Given the description of an element on the screen output the (x, y) to click on. 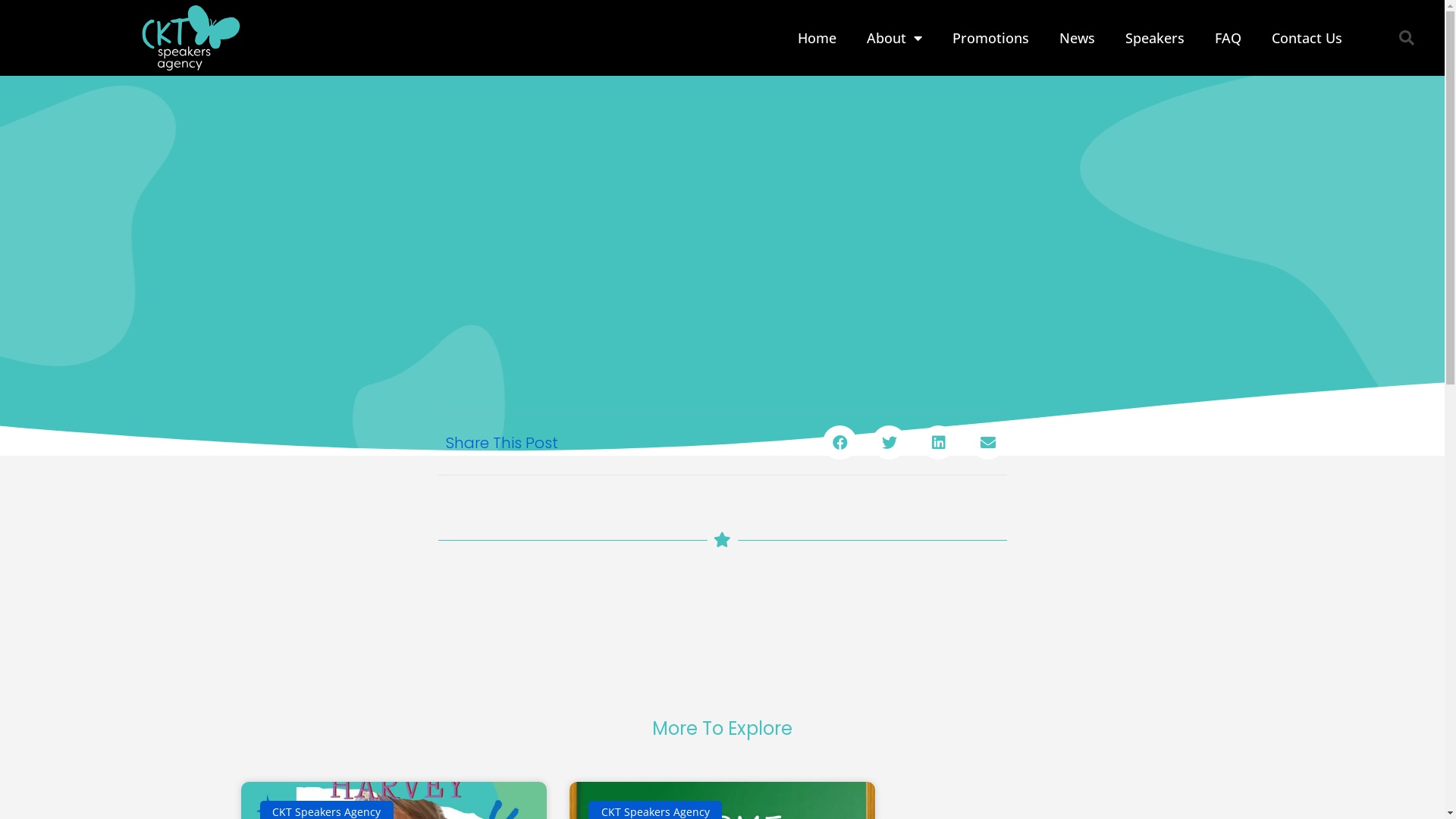
About Element type: text (894, 37)
Home Element type: text (816, 37)
News Element type: text (1077, 37)
Promotions Element type: text (990, 37)
Speakers Element type: text (1154, 37)
Contact Us Element type: text (1306, 37)
Skip to content Element type: text (15, 7)
FAQ Element type: text (1227, 37)
